Given the description of an element on the screen output the (x, y) to click on. 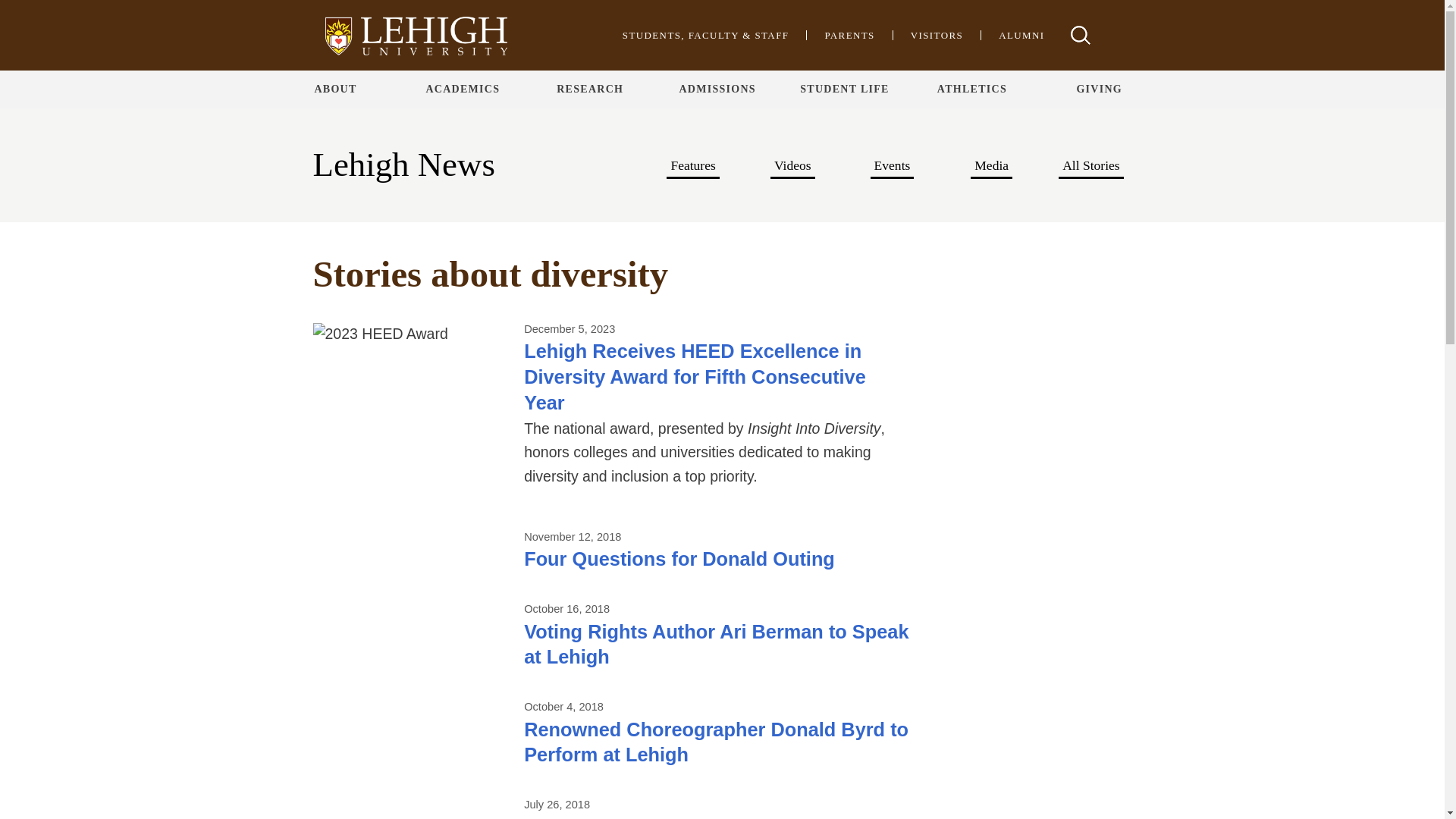
ACADEMICS (462, 89)
VISITORS (937, 35)
ALUMNI (1021, 35)
ABOUT (335, 89)
PARENTS (849, 35)
